Given the description of an element on the screen output the (x, y) to click on. 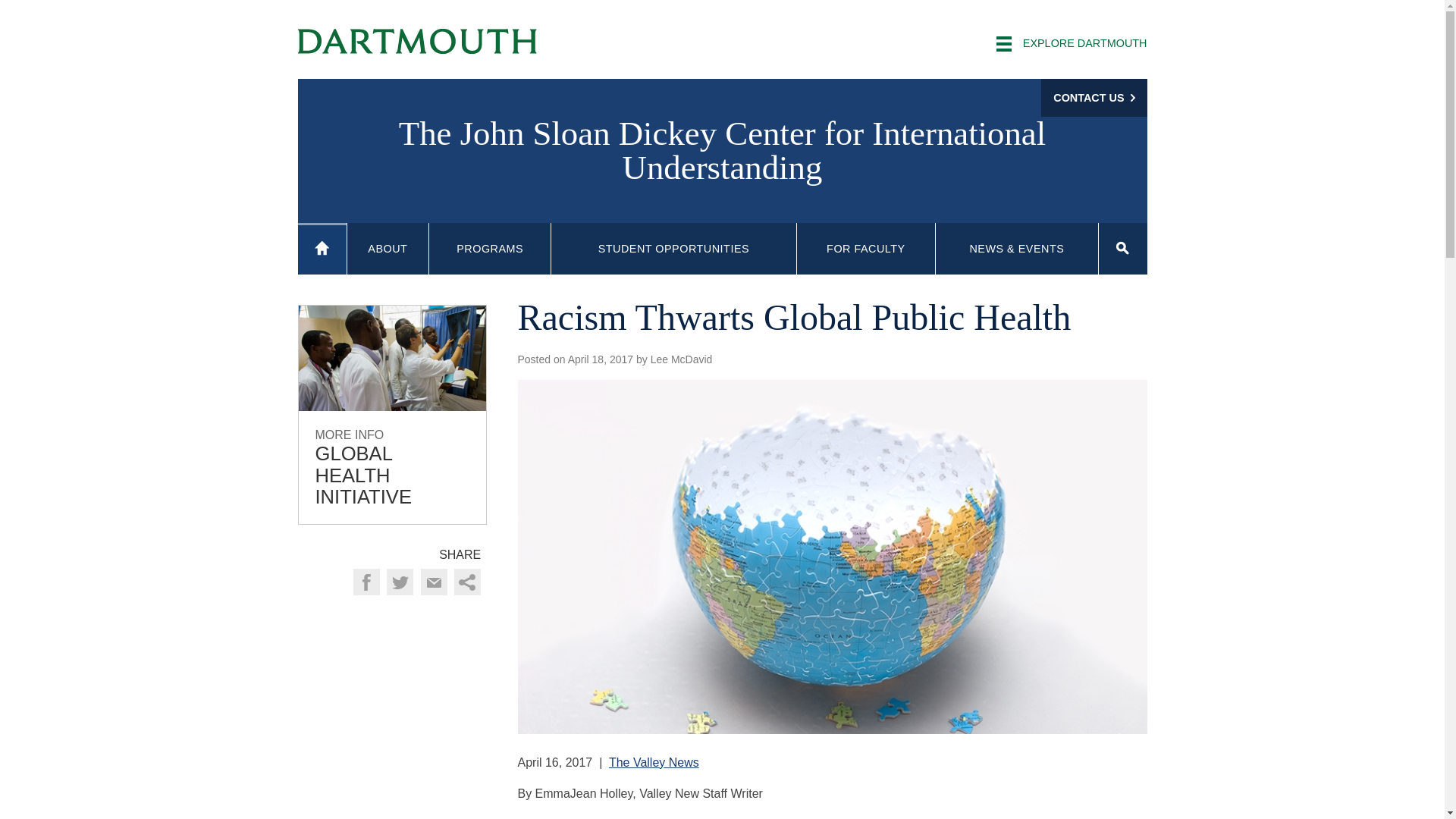
Home (321, 248)
EXPLORE DARTMOUTH (1071, 43)
Dartmouth College (417, 41)
